Given the description of an element on the screen output the (x, y) to click on. 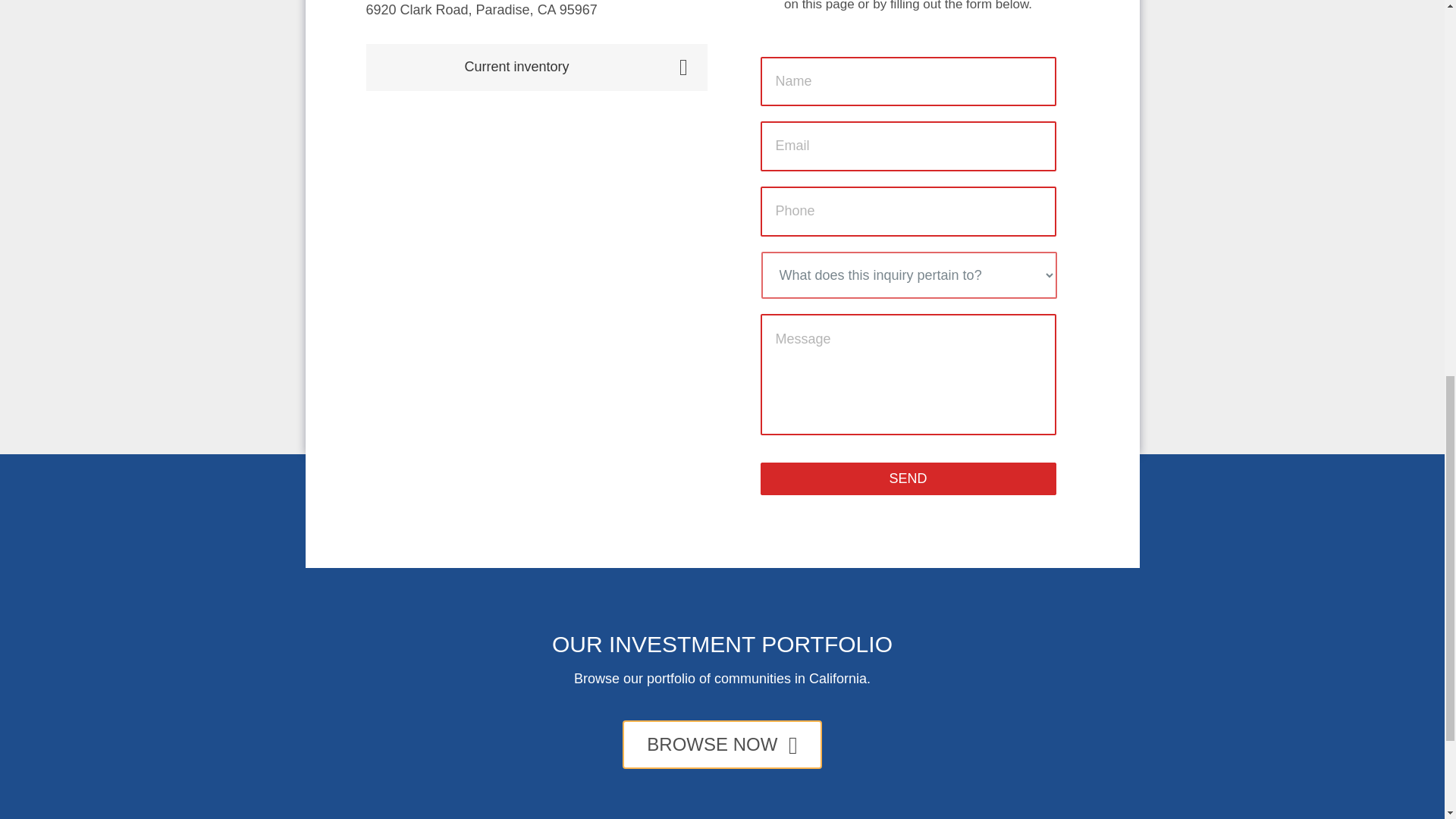
BROWSE NOW (722, 744)
SEND (907, 479)
SEND (907, 479)
